Given the description of an element on the screen output the (x, y) to click on. 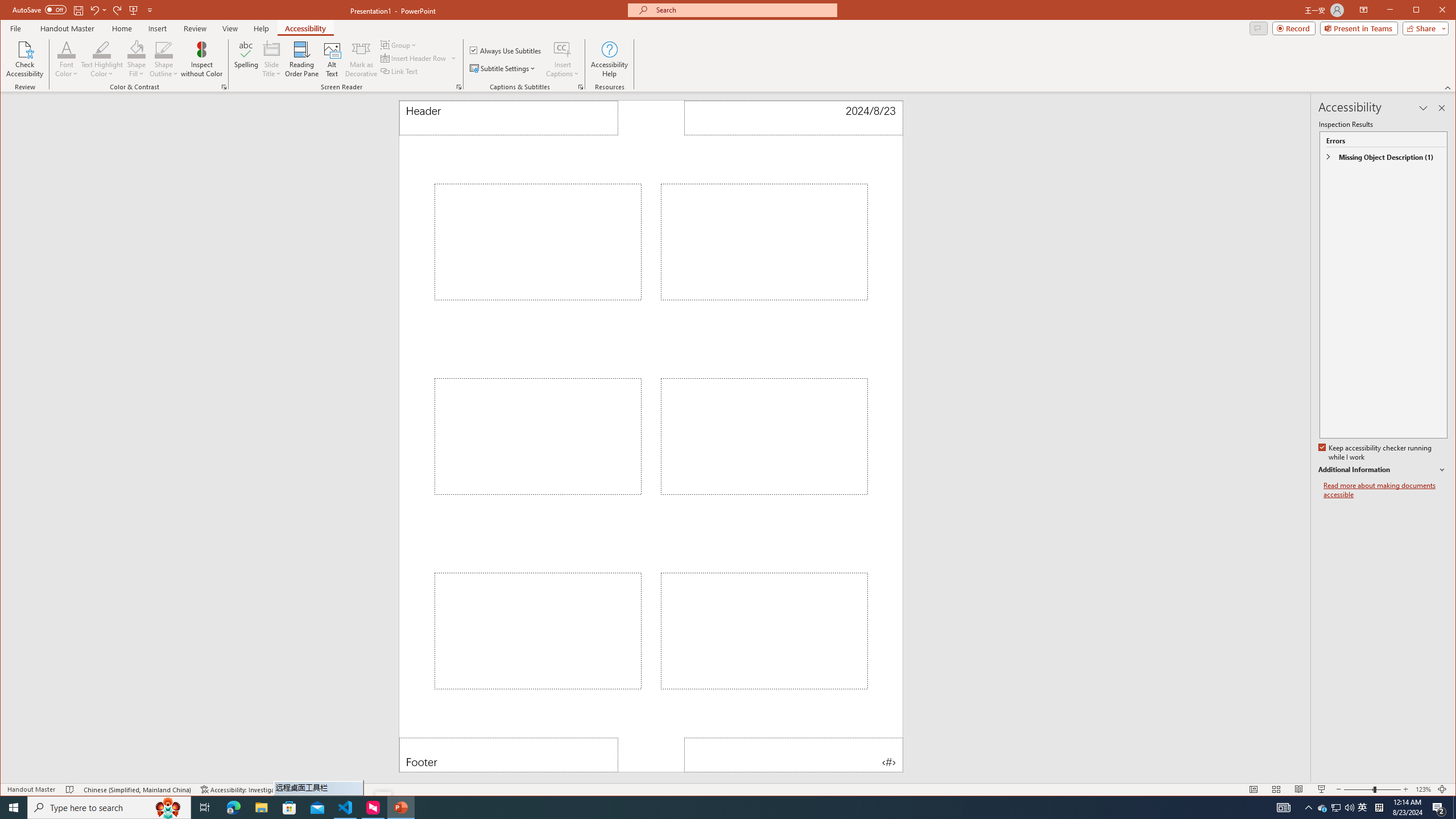
Tray Input Indicator - Chinese (Simplified, China) (1378, 807)
Captions & Subtitles (580, 86)
Zoom 123% (1422, 789)
Slide Title (271, 59)
Color & Contrast (223, 86)
Handout Master (67, 28)
